Given the description of an element on the screen output the (x, y) to click on. 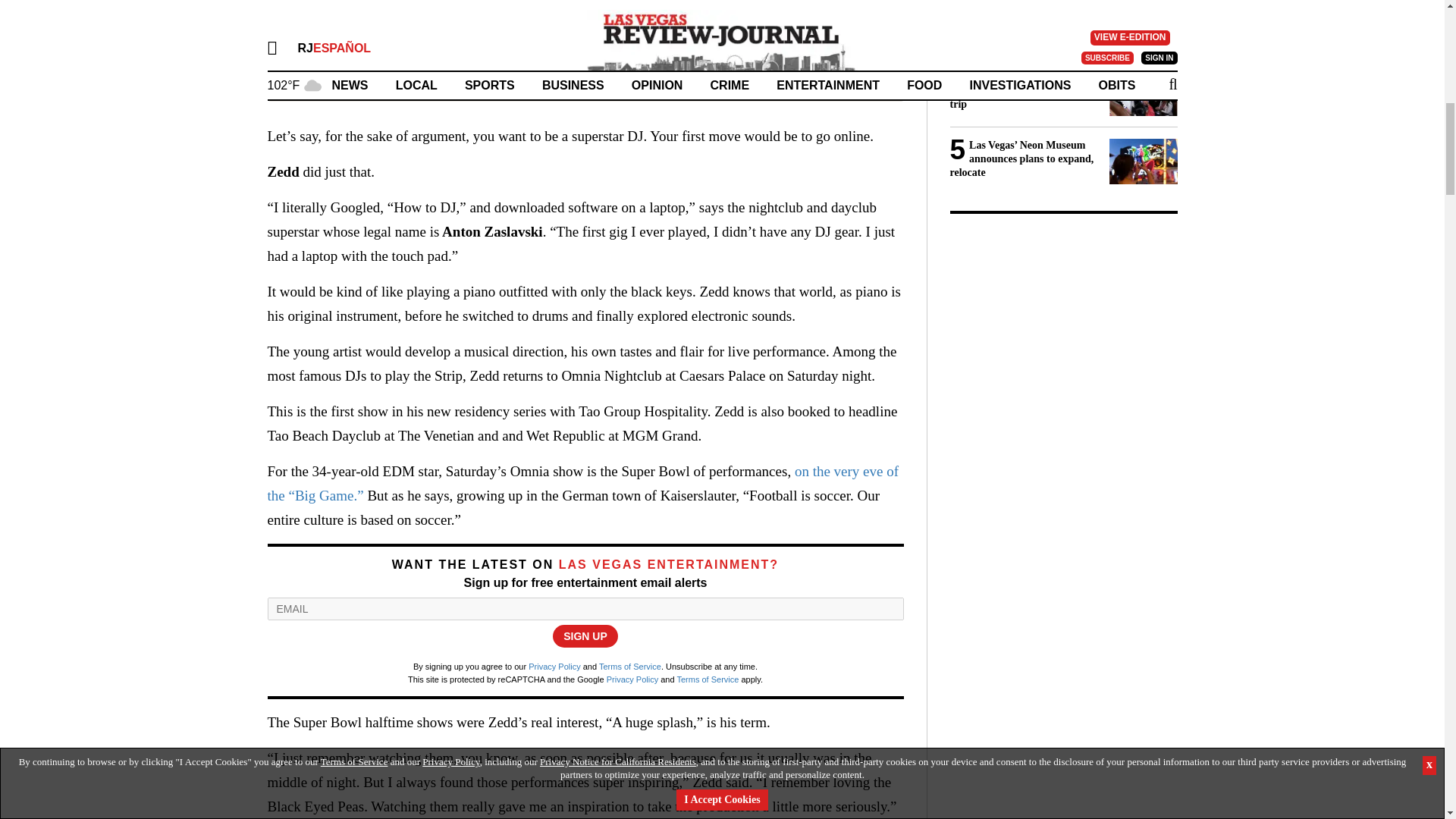
3rd party ad content (1062, 323)
Trinity Audio Player (584, 71)
facebook like widget (557, 14)
